Given the description of an element on the screen output the (x, y) to click on. 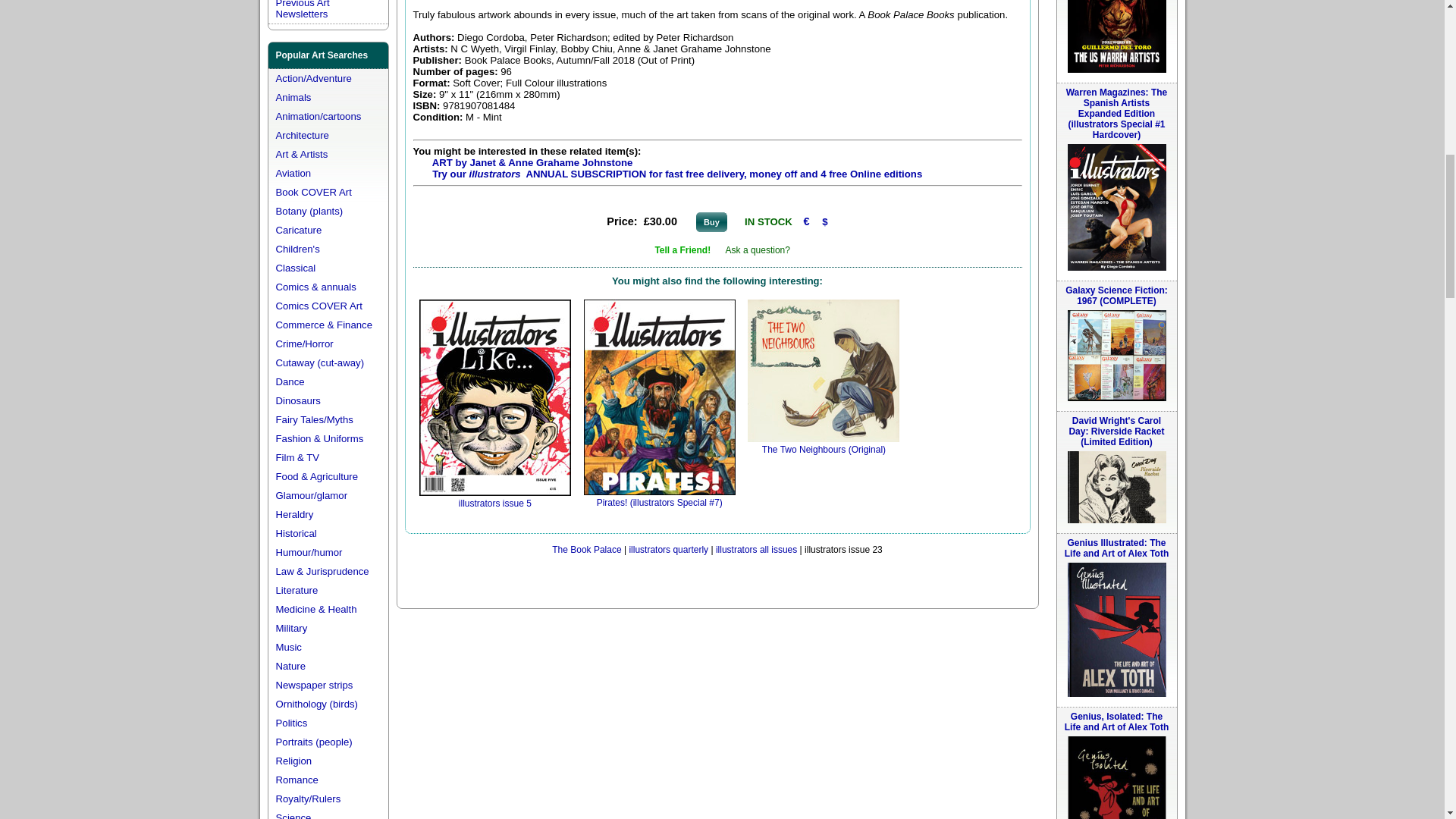
Buy (710, 221)
